Given the description of an element on the screen output the (x, y) to click on. 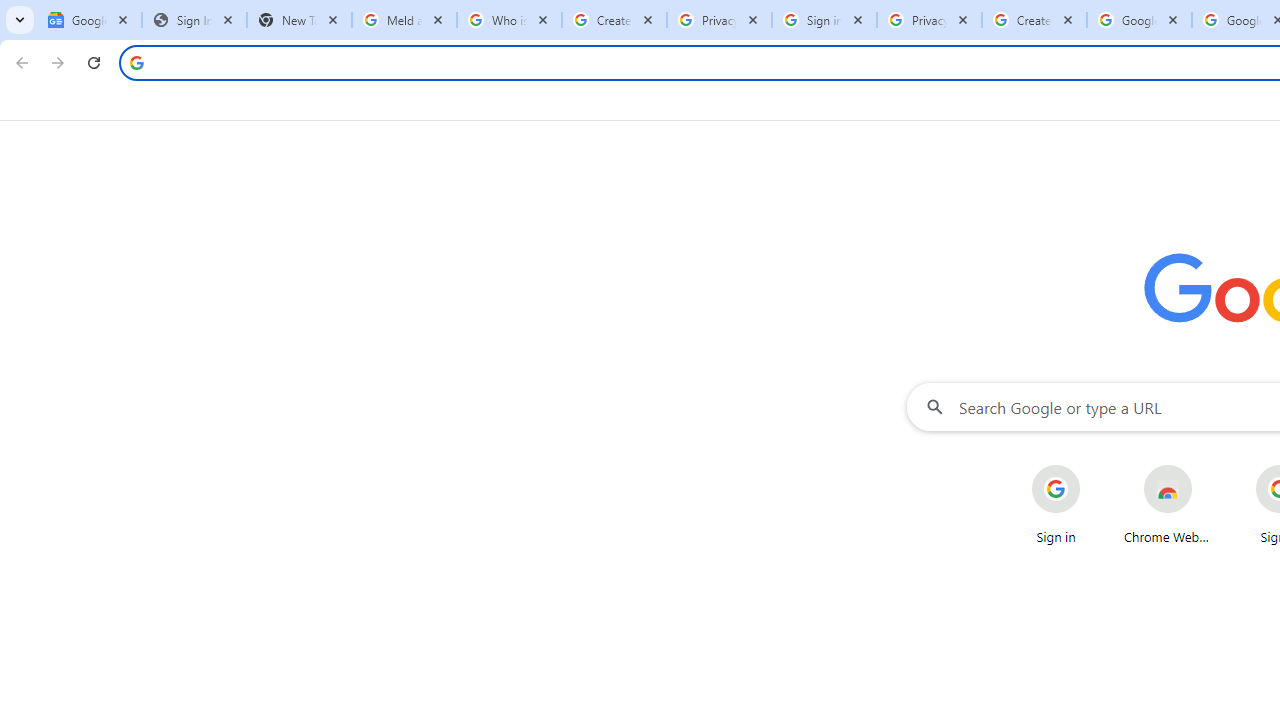
Create your Google Account (613, 20)
More actions for Sign in shortcut (1095, 466)
Create your Google Account (1033, 20)
Sign in - Google Accounts (823, 20)
Sign In - USA TODAY (194, 20)
Google News (89, 20)
